Given the description of an element on the screen output the (x, y) to click on. 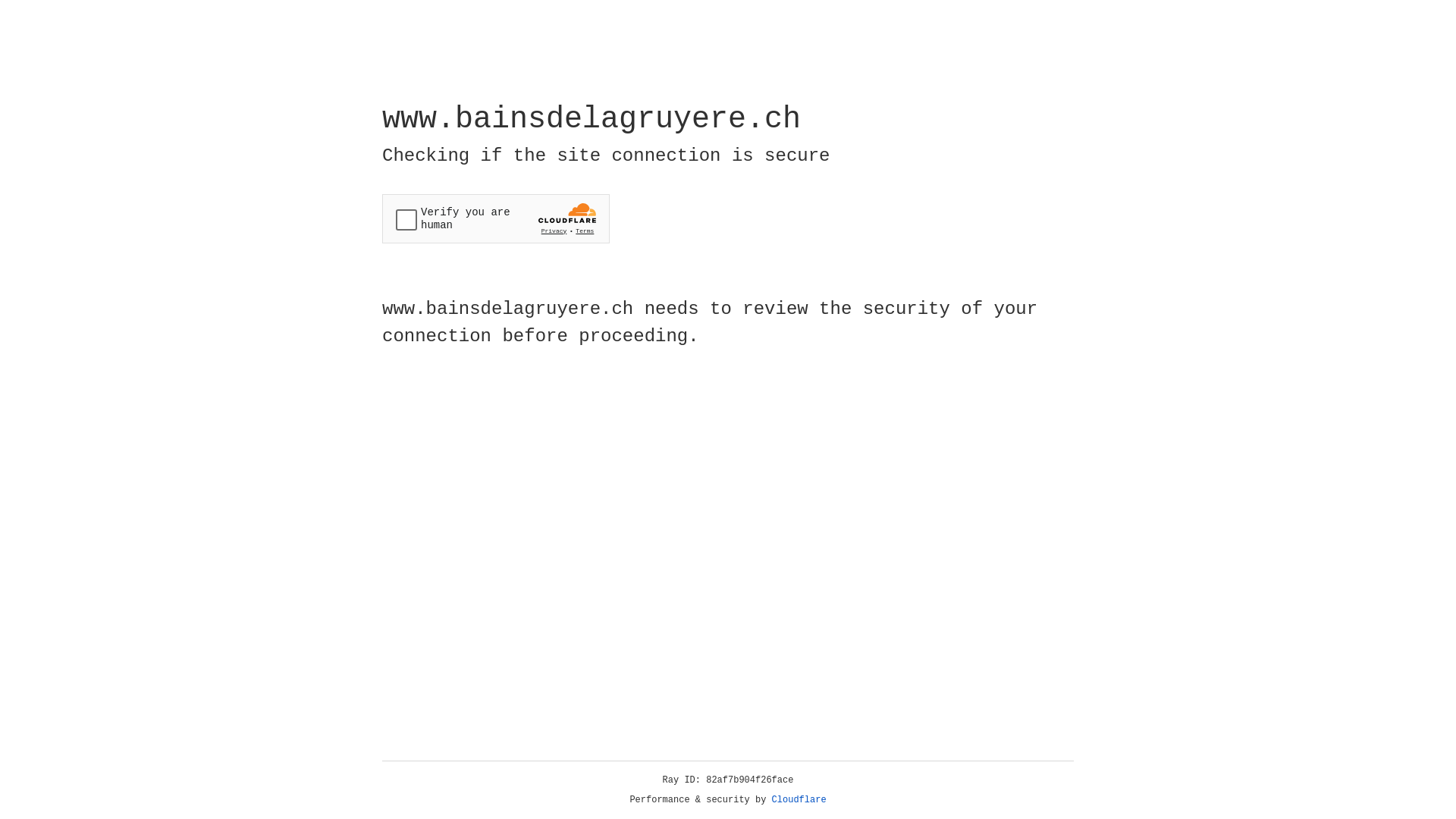
Widget containing a Cloudflare security challenge Element type: hover (495, 218)
Cloudflare Element type: text (798, 799)
